Given the description of an element on the screen output the (x, y) to click on. 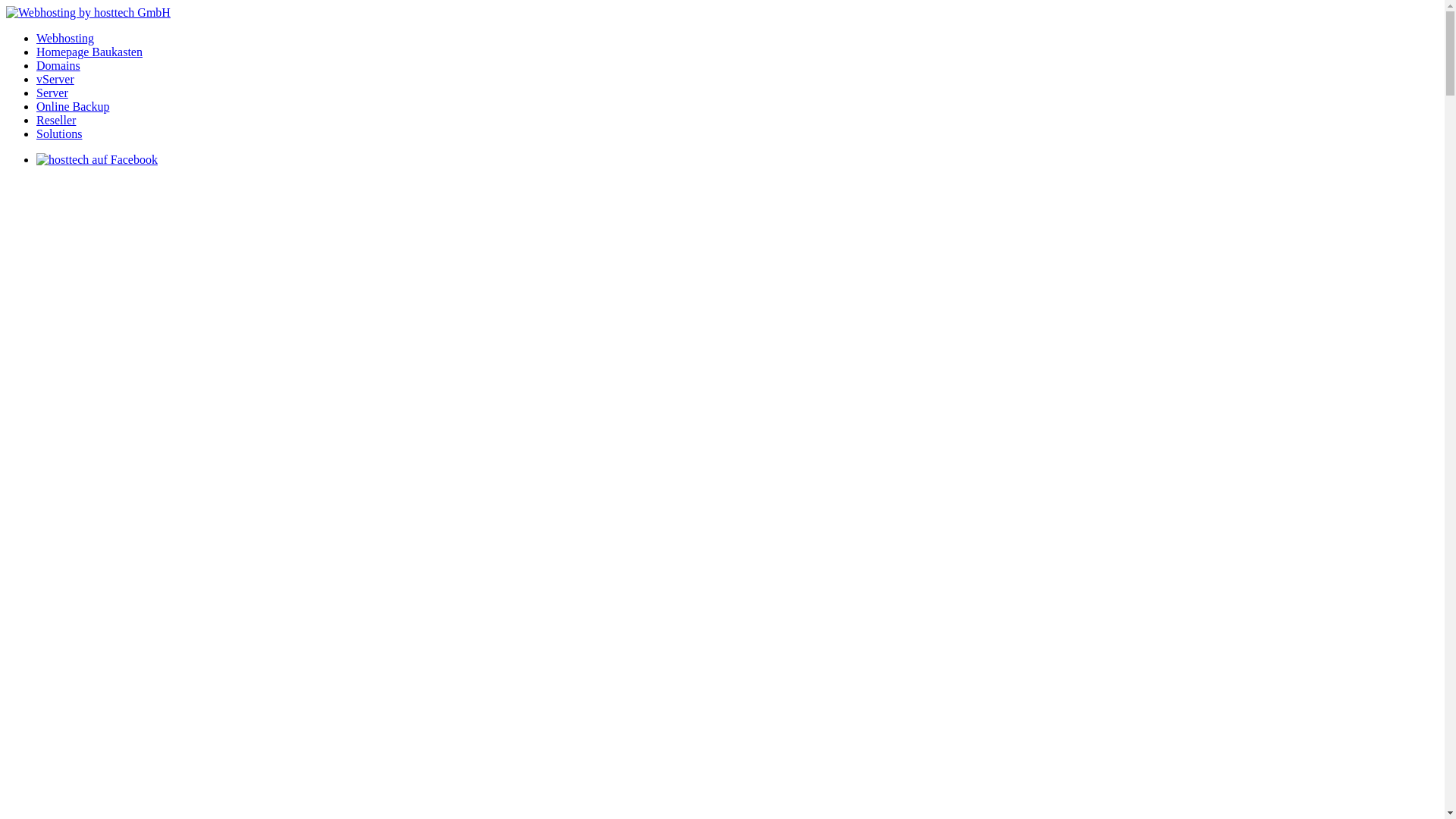
Solutions Element type: text (58, 133)
Online Backup Element type: text (72, 106)
Webhosting Element type: text (65, 37)
Domains Element type: text (58, 65)
Server Element type: text (52, 92)
Reseller Element type: text (55, 119)
Homepage Baukasten Element type: text (89, 51)
vServer Element type: text (55, 78)
